Given the description of an element on the screen output the (x, y) to click on. 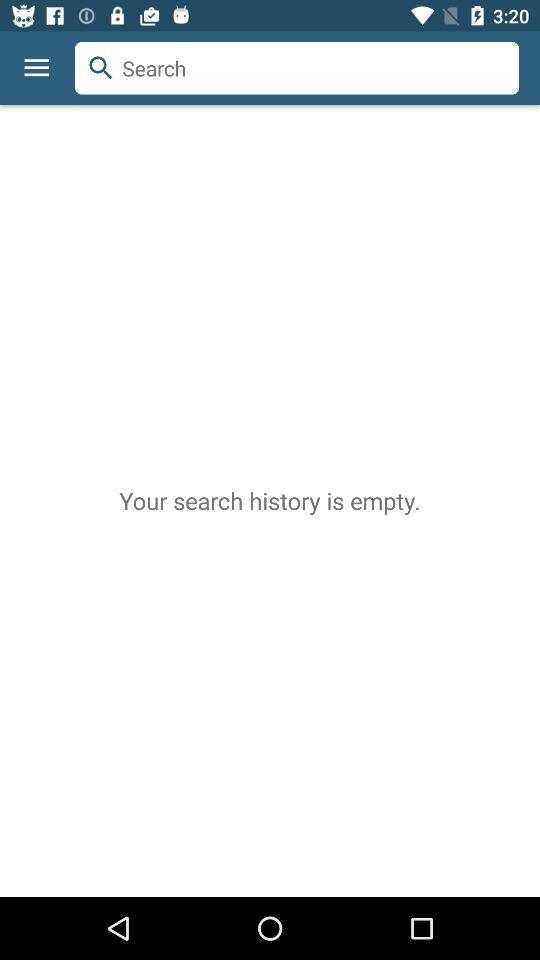
tap the item above the your search history icon (297, 67)
